Given the description of an element on the screen output the (x, y) to click on. 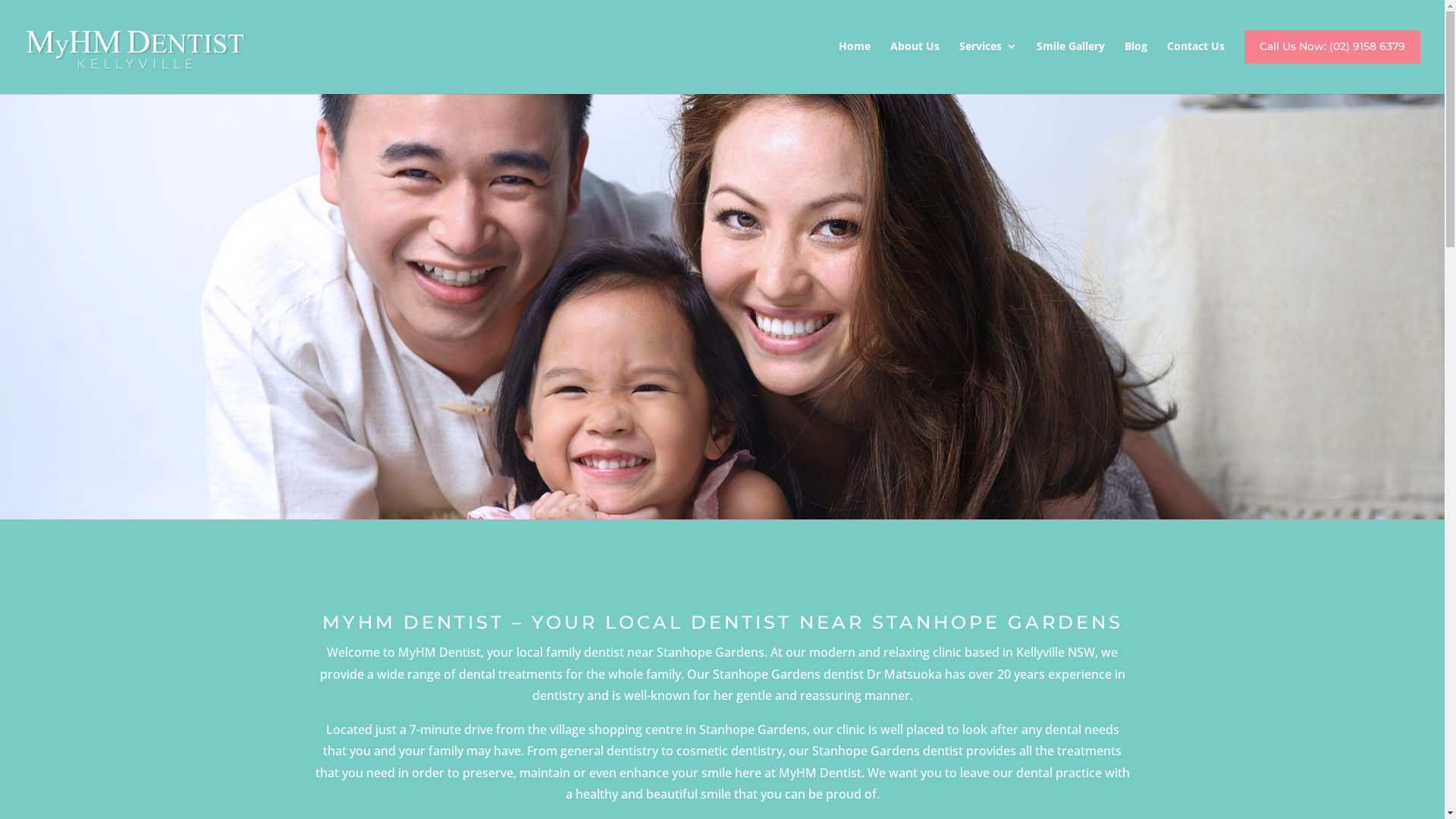
About Us Element type: text (914, 60)
Call Us Now: (02) 9158 6379 Element type: text (1332, 62)
Home Element type: text (854, 60)
Smile Gallery Element type: text (1070, 60)
Services Element type: text (987, 60)
Contact Us Element type: text (1195, 60)
Blog Element type: text (1135, 60)
